Given the description of an element on the screen output the (x, y) to click on. 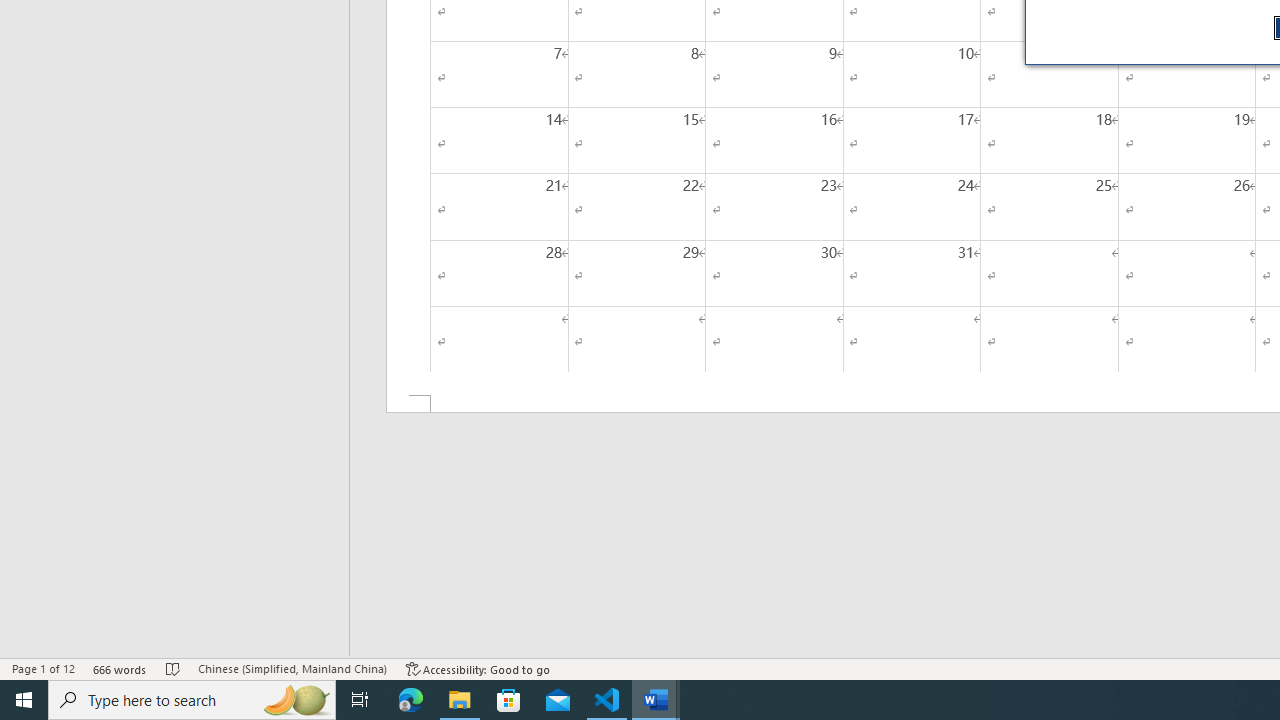
Visual Studio Code - 1 running window (607, 699)
Task View (359, 699)
Page Number Page 1 of 12 (43, 668)
Microsoft Edge (411, 699)
Word - 2 running windows (656, 699)
Search highlights icon opens search home window (295, 699)
Start (24, 699)
Word Count 666 words (119, 668)
Spelling and Grammar Check No Errors (173, 668)
Accessibility Checker Accessibility: Good to go (478, 668)
File Explorer - 1 running window (460, 699)
Microsoft Store (509, 699)
Language Chinese (Simplified, Mainland China) (292, 668)
